Given the description of an element on the screen output the (x, y) to click on. 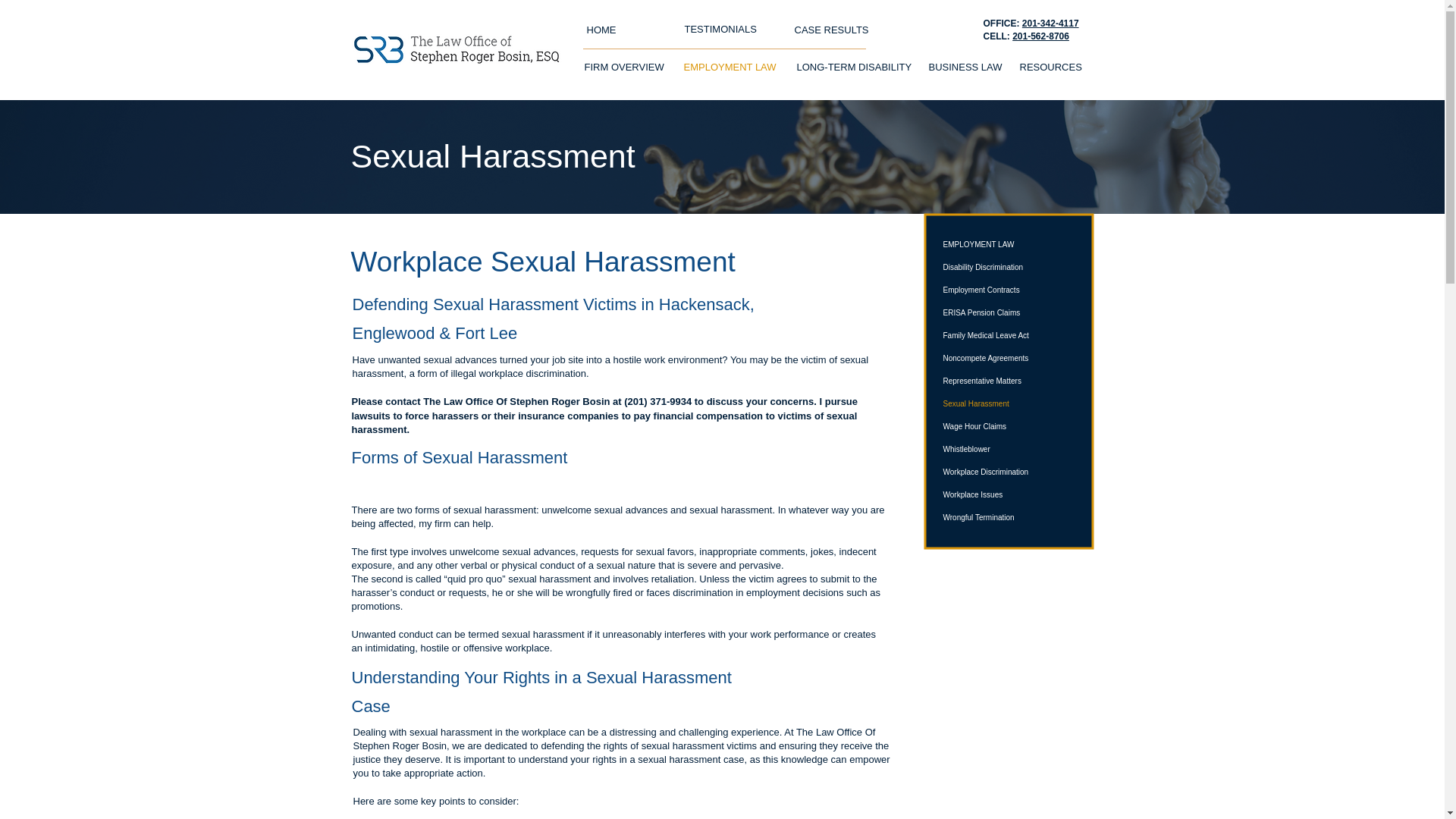
201-562-8706 (1039, 36)
ERISA Pension Claims (1011, 313)
TESTIMONIALS (719, 29)
Employment Contracts (1011, 290)
EMPLOYMENT LAW (727, 67)
EMPLOYMENT LAW (1011, 244)
Disability Discrimination (1011, 267)
CASE RESULTS (831, 30)
BUSINESS LAW (963, 67)
RESOURCES (1047, 67)
LONG-TERM DISABILITY (851, 67)
HOME (600, 30)
FIRM OVERVIEW (622, 67)
201-342-4117 (1050, 23)
